Given the description of an element on the screen output the (x, y) to click on. 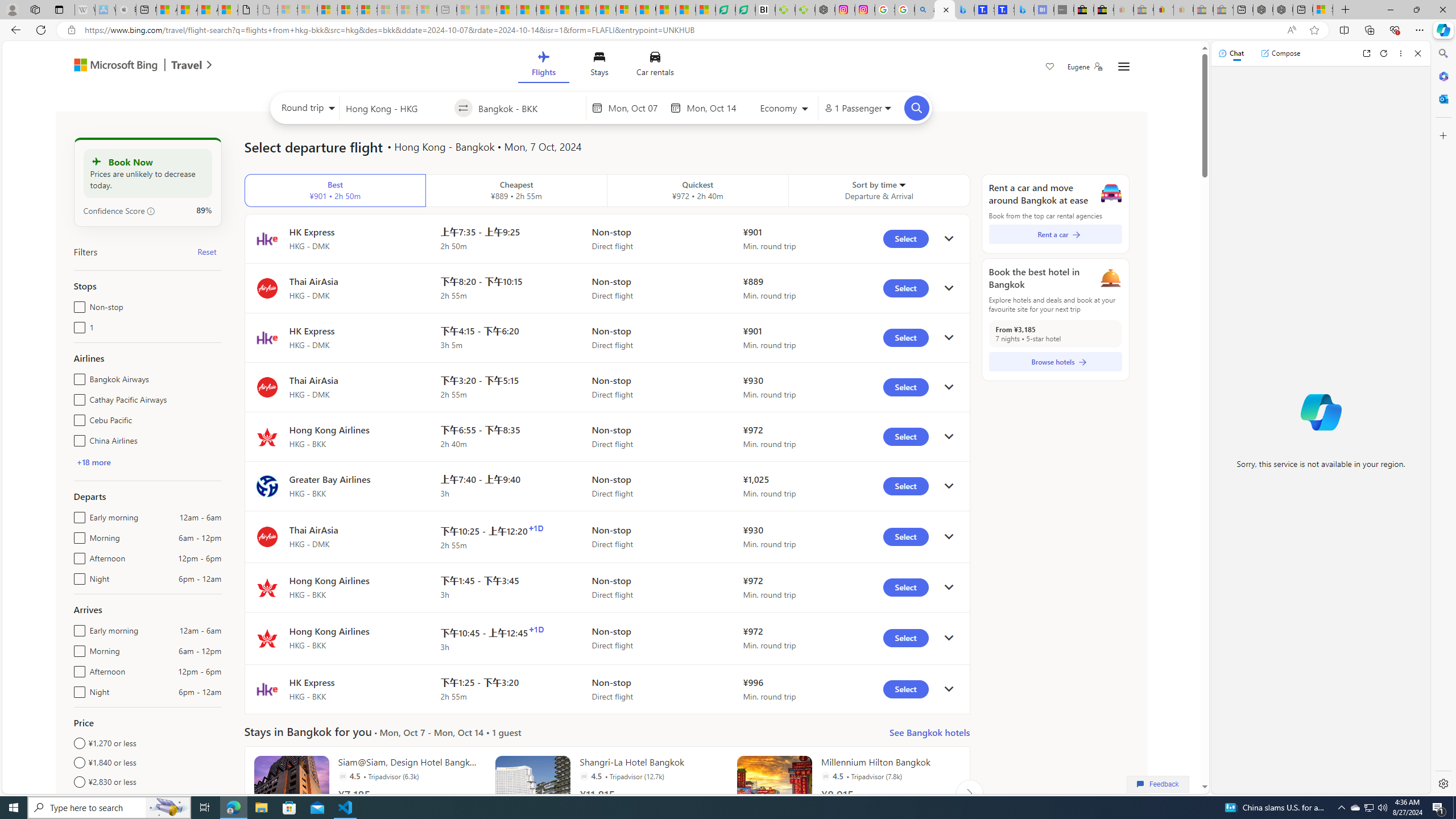
Food and Drink - MSN (526, 9)
Leaving from? (396, 107)
Night6pm - 12am (76, 689)
+18 more (92, 461)
Microsoft Services Agreement - Sleeping (306, 9)
Select class of service (784, 109)
Flight logo (267, 689)
Sign in to your Microsoft account - Sleeping (287, 9)
Payments Terms of Use | eBay.com - Sleeping (1183, 9)
Microsoft Bing (110, 65)
